Given the description of an element on the screen output the (x, y) to click on. 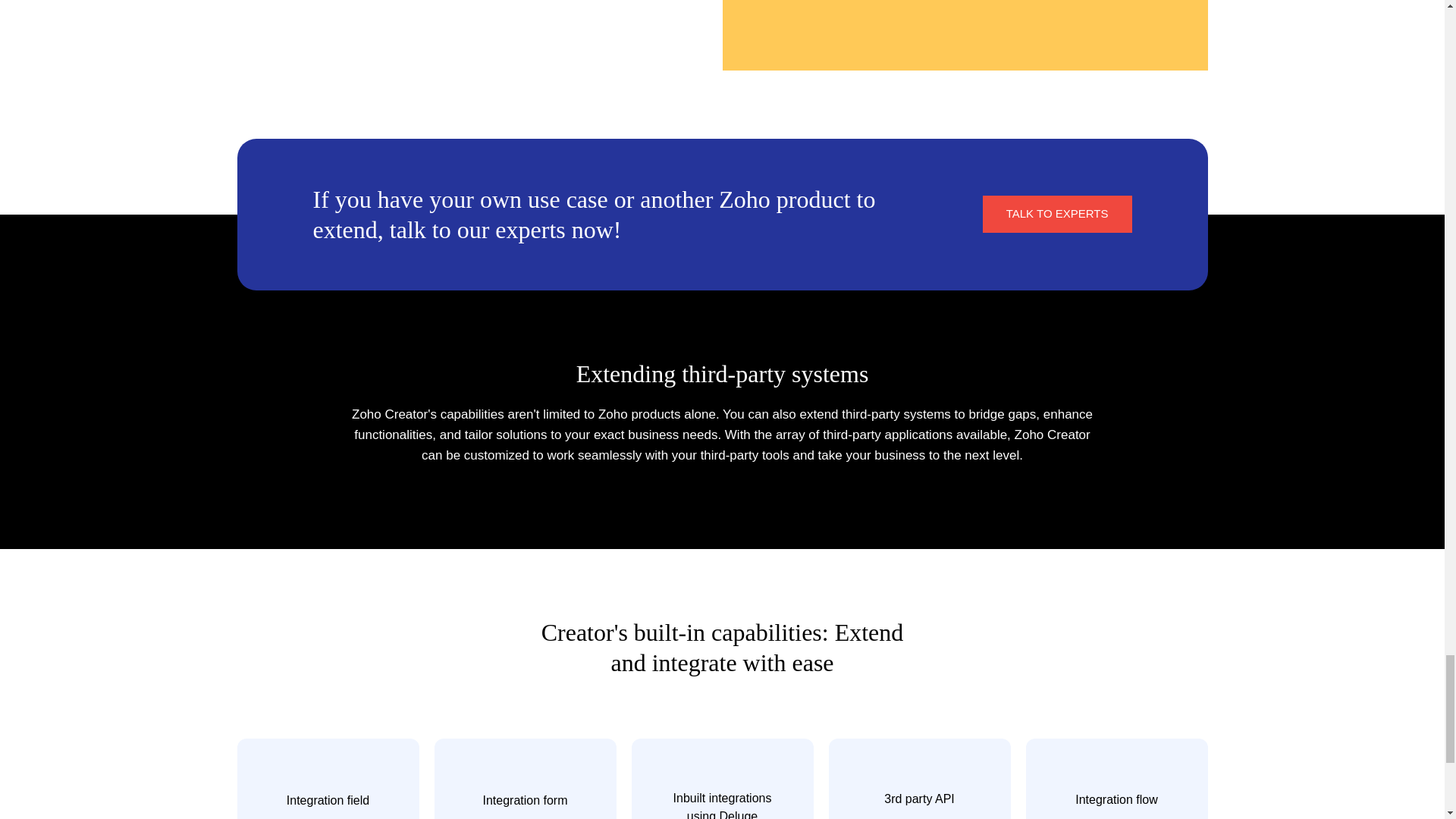
TALK TO EXPERTS (1057, 213)
